Given the description of an element on the screen output the (x, y) to click on. 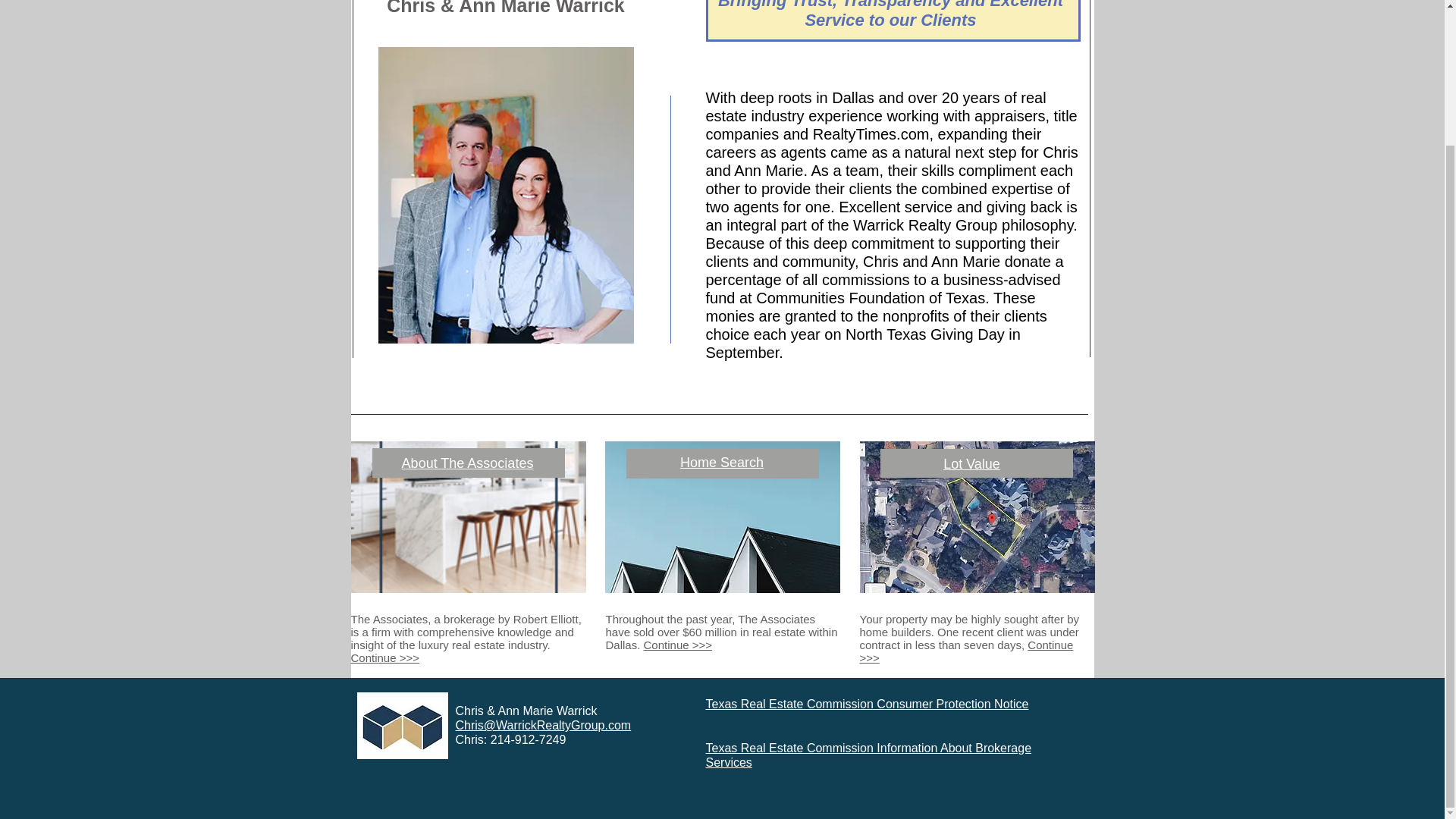
Home Search (720, 462)
About The Associates (467, 462)
Lot Value (971, 463)
Texas Real Estate Commission Consumer Protection Notice (865, 703)
